Given the description of an element on the screen output the (x, y) to click on. 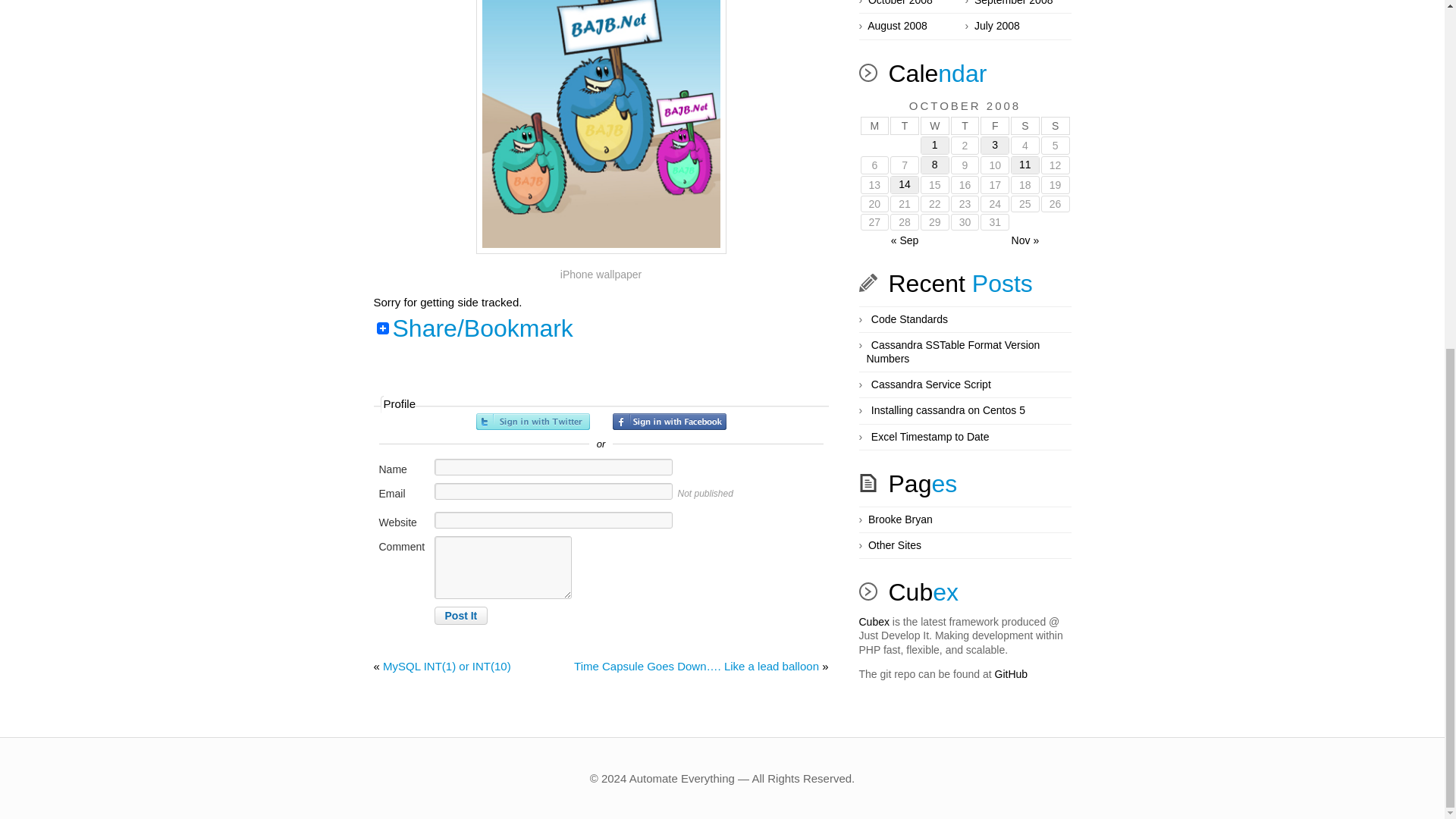
Sign in with Facebook (669, 421)
bajb iPhone wallpaper (601, 126)
Post It (460, 615)
Sign in with Twitter (532, 421)
Post It (460, 615)
